Given the description of an element on the screen output the (x, y) to click on. 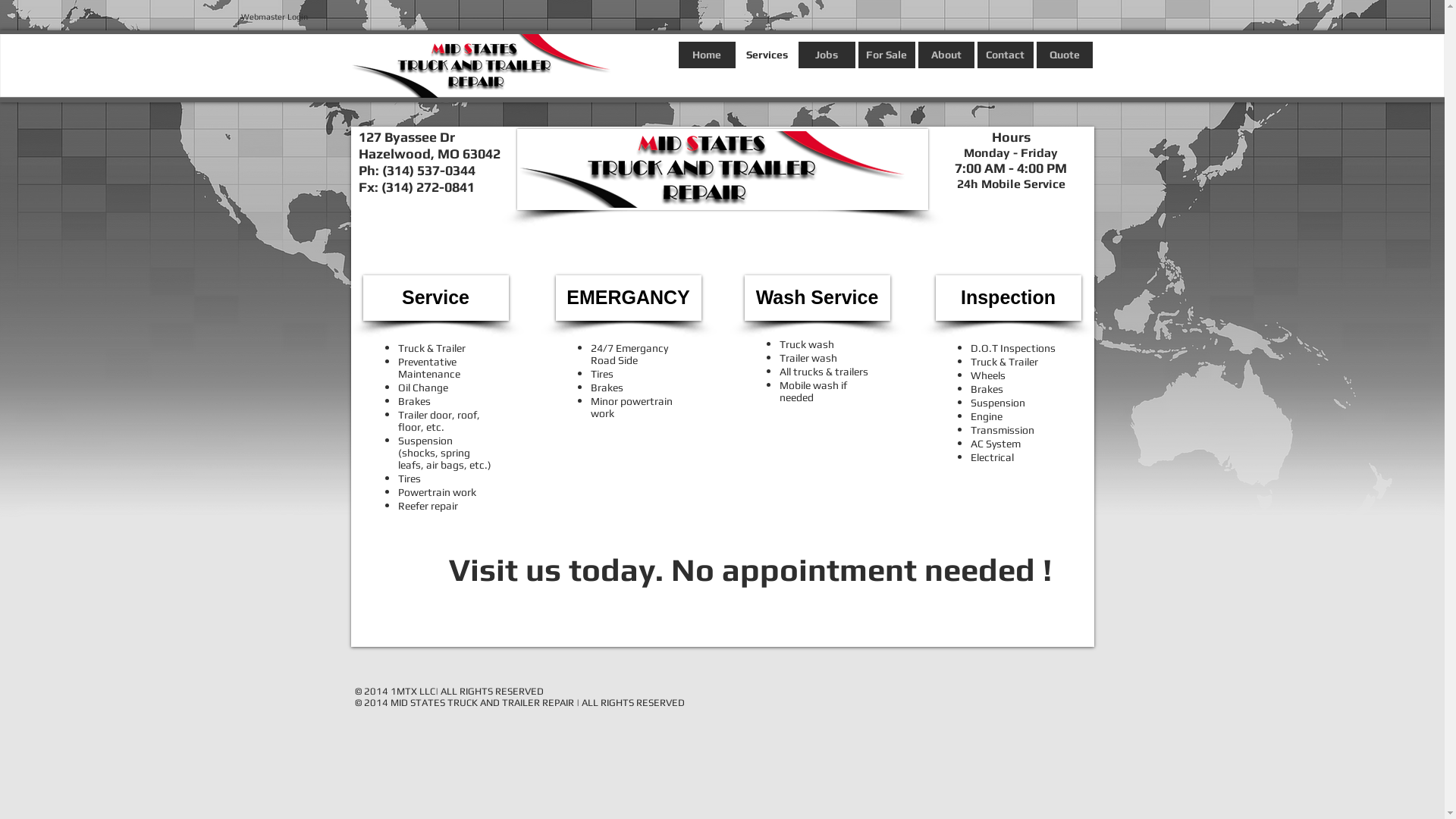
Services Element type: text (766, 54)
For Sale Element type: text (886, 54)
Home Element type: text (705, 54)
About Element type: text (945, 54)
Contact Element type: text (1004, 54)
Quote Element type: text (1063, 54)
Webmaster Login Element type: text (274, 16)
Site Search Element type: hover (269, 66)
Jobs Element type: text (825, 54)
